Given the description of an element on the screen output the (x, y) to click on. 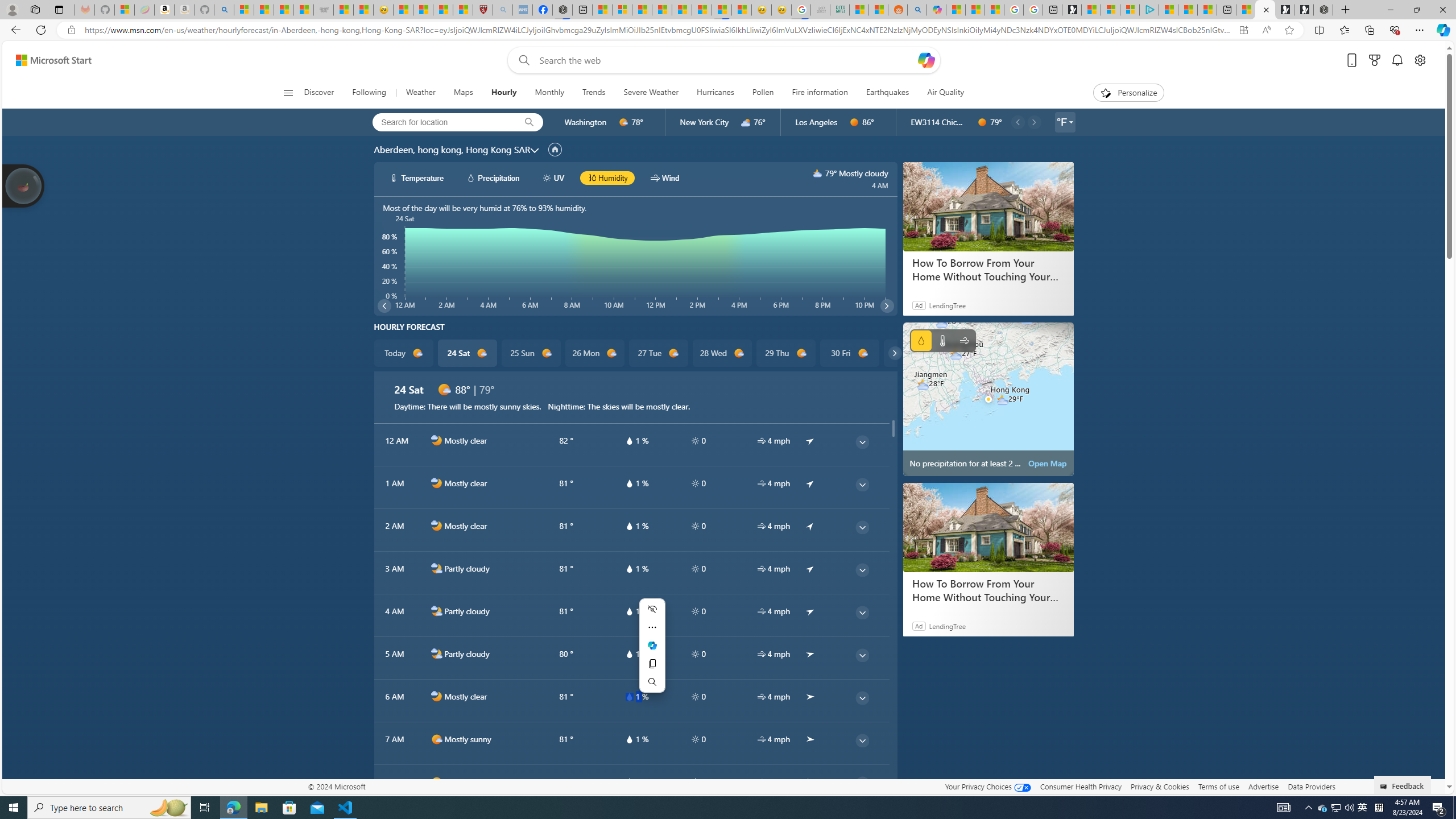
Microsoft Copilot in Bing (935, 9)
Maps (462, 92)
Fire information (819, 92)
Air Quality (940, 92)
hourlyTable/drop (628, 782)
